Given the description of an element on the screen output the (x, y) to click on. 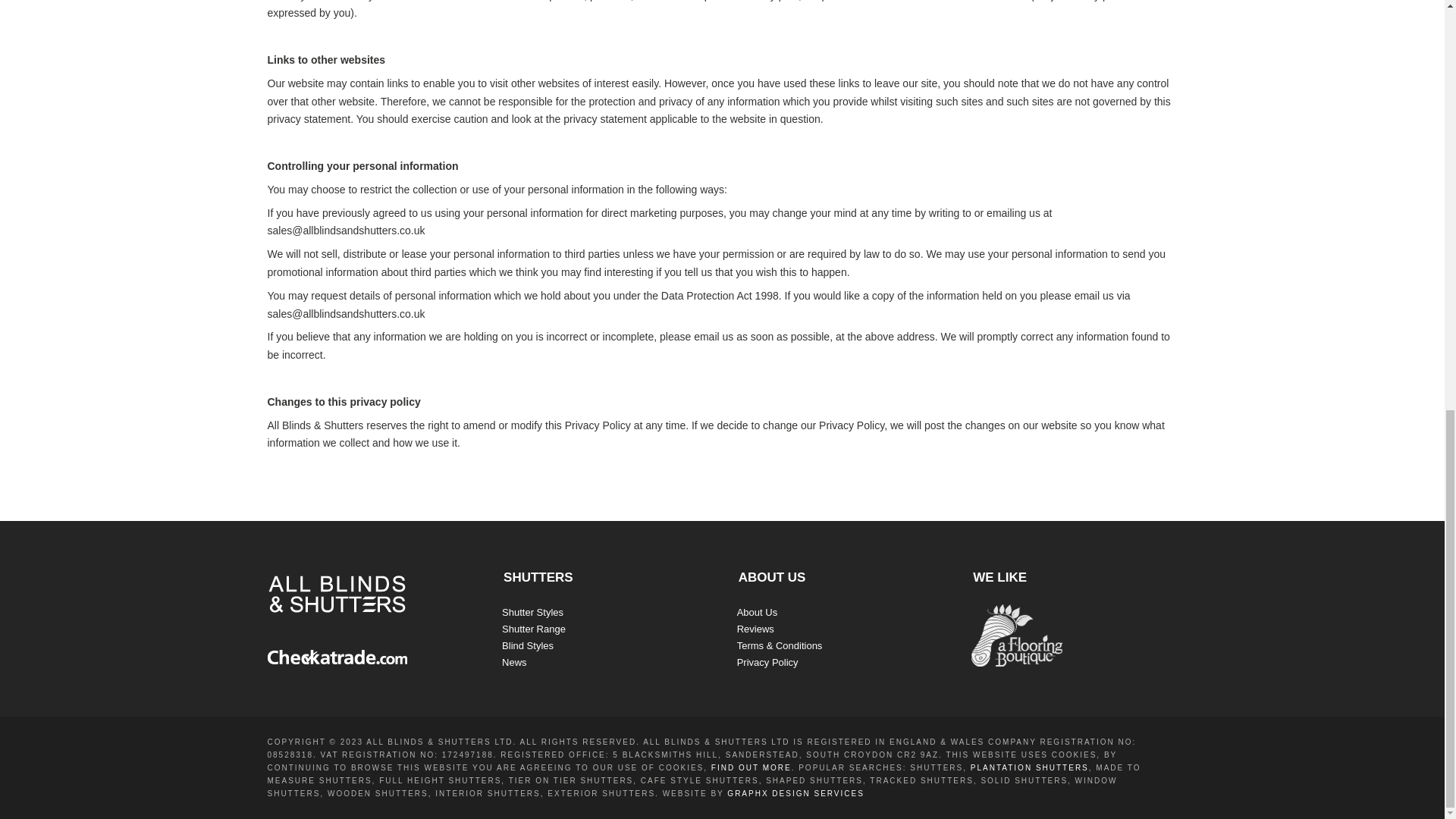
FIND OUT MORE (751, 767)
News (514, 662)
PLANTATION SHUTTERS (1030, 767)
Shutter Styles (532, 612)
Blind Styles (527, 645)
About Us (756, 612)
Privacy Policy (766, 662)
GRAPHX DESIGN SERVICES (795, 793)
Reviews (755, 628)
Shutter Range (534, 628)
